Given the description of an element on the screen output the (x, y) to click on. 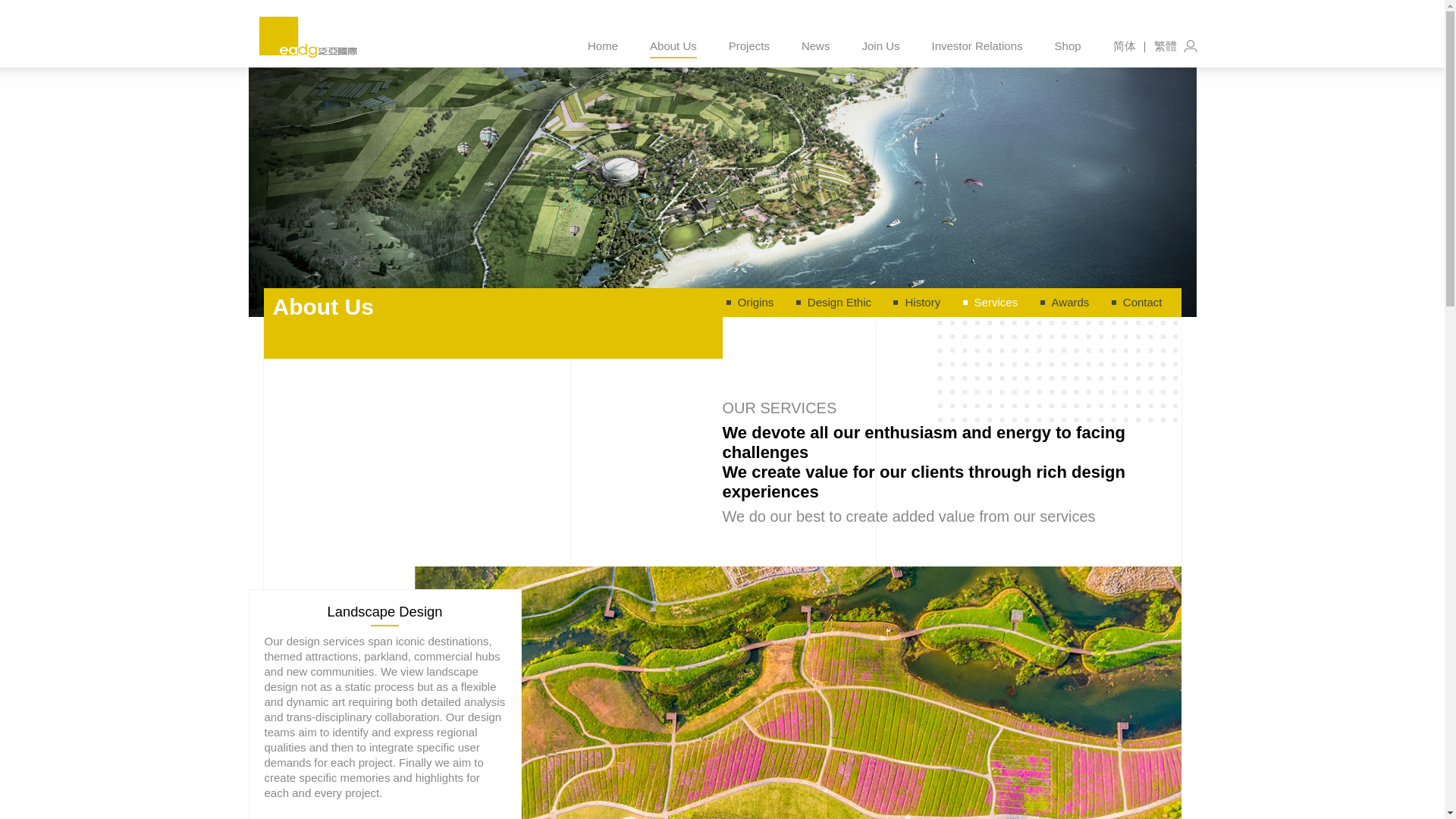
Projects (749, 45)
Shop (1067, 45)
About Us (673, 45)
Join Us (880, 45)
Awards (1074, 301)
Origins (759, 301)
Contact (1146, 301)
Investor Relations (976, 45)
History (926, 301)
Home (602, 45)
